Given the description of an element on the screen output the (x, y) to click on. 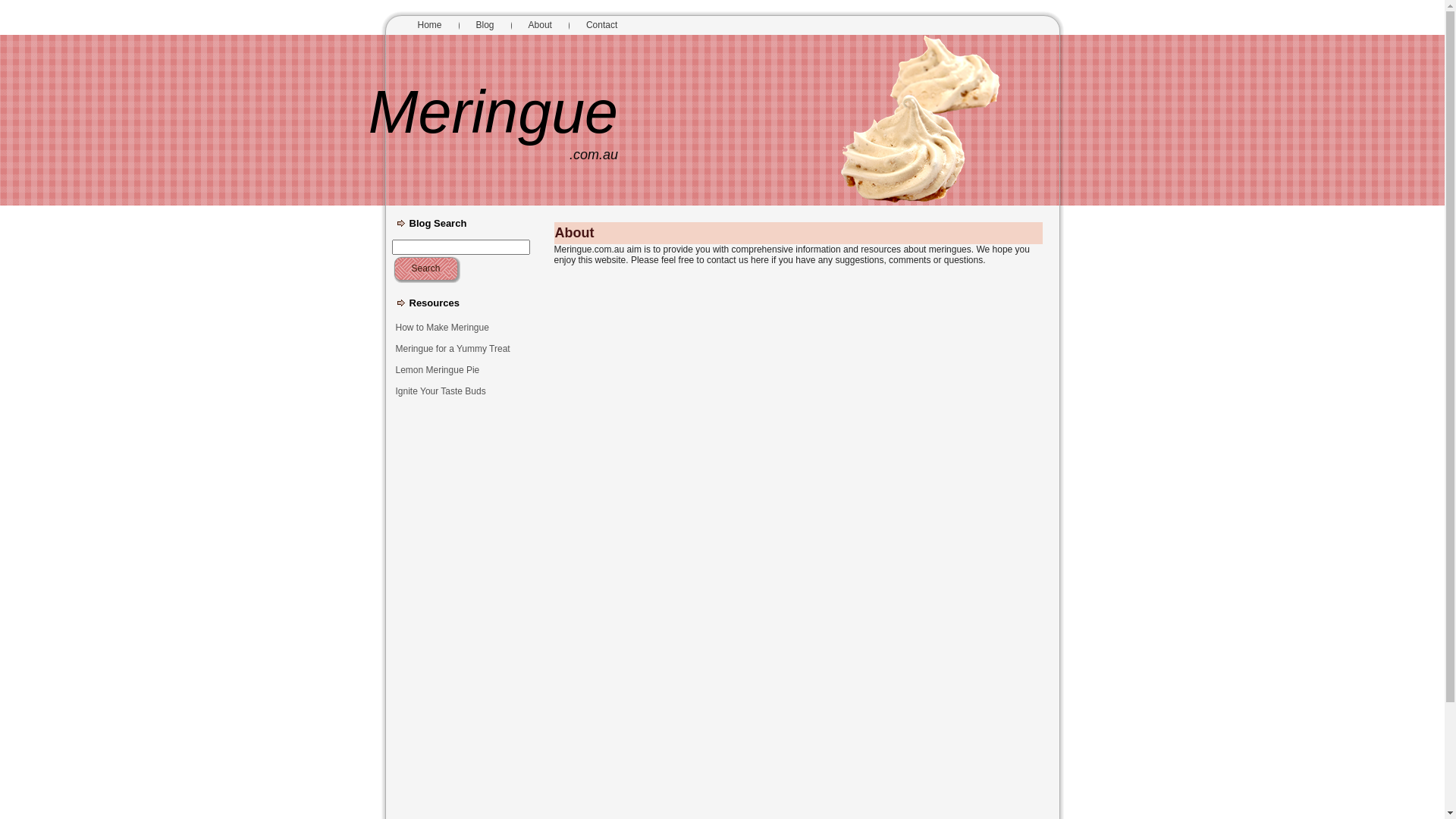
How to Make Meringue Element type: text (461, 327)
Blog Element type: text (485, 24)
Contact Element type: text (601, 24)
Meringue for a Yummy Treat Element type: text (461, 348)
Meringue Element type: text (493, 111)
Ignite Your Taste Buds Element type: text (461, 390)
Home Element type: text (429, 24)
About Element type: text (539, 24)
Lemon Meringue Pie Element type: text (461, 369)
